Given the description of an element on the screen output the (x, y) to click on. 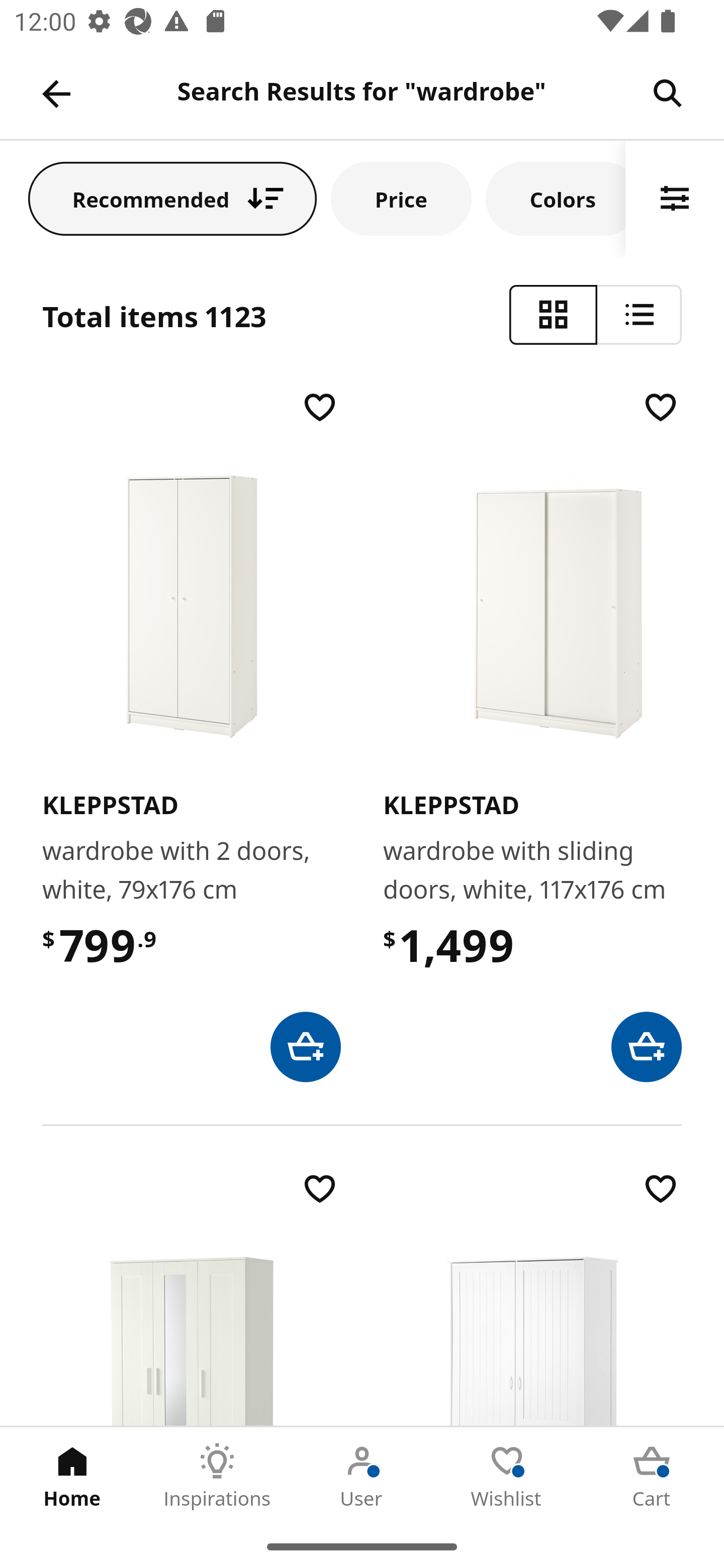
Recommended (172, 198)
Price (400, 198)
Colors (555, 198)
Home
Tab 1 of 5 (72, 1476)
Inspirations
Tab 2 of 5 (216, 1476)
User
Tab 3 of 5 (361, 1476)
Wishlist
Tab 4 of 5 (506, 1476)
Cart
Tab 5 of 5 (651, 1476)
